Given the description of an element on the screen output the (x, y) to click on. 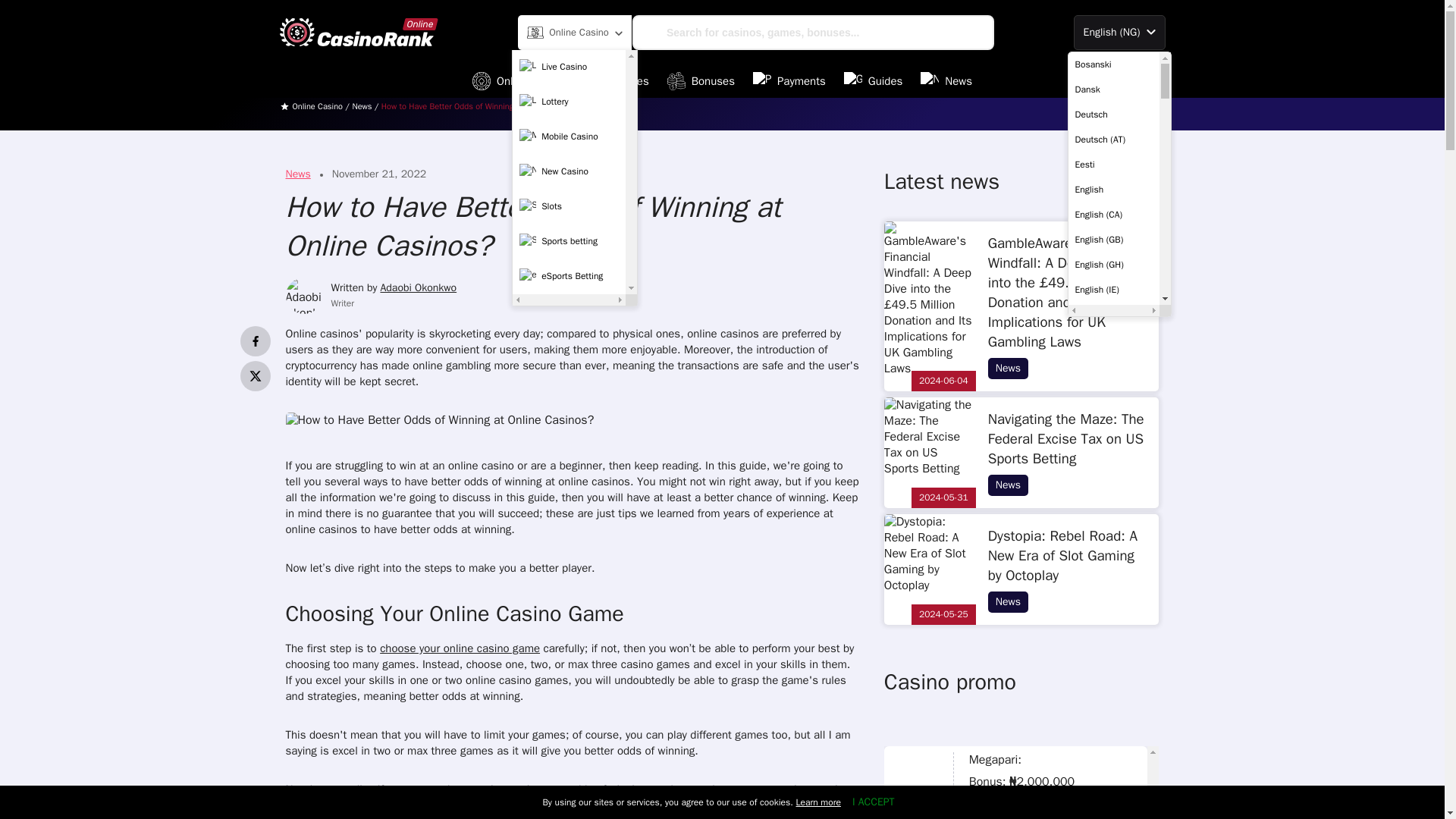
Bosanski (1113, 63)
Sports betting (569, 241)
Dansk (1113, 89)
Eesti (1113, 163)
Hrvatski (1113, 810)
Mobile Casino (569, 136)
eSports Betting (569, 276)
Live Casino (569, 67)
Lottery (569, 102)
Slots (569, 206)
